Given the description of an element on the screen output the (x, y) to click on. 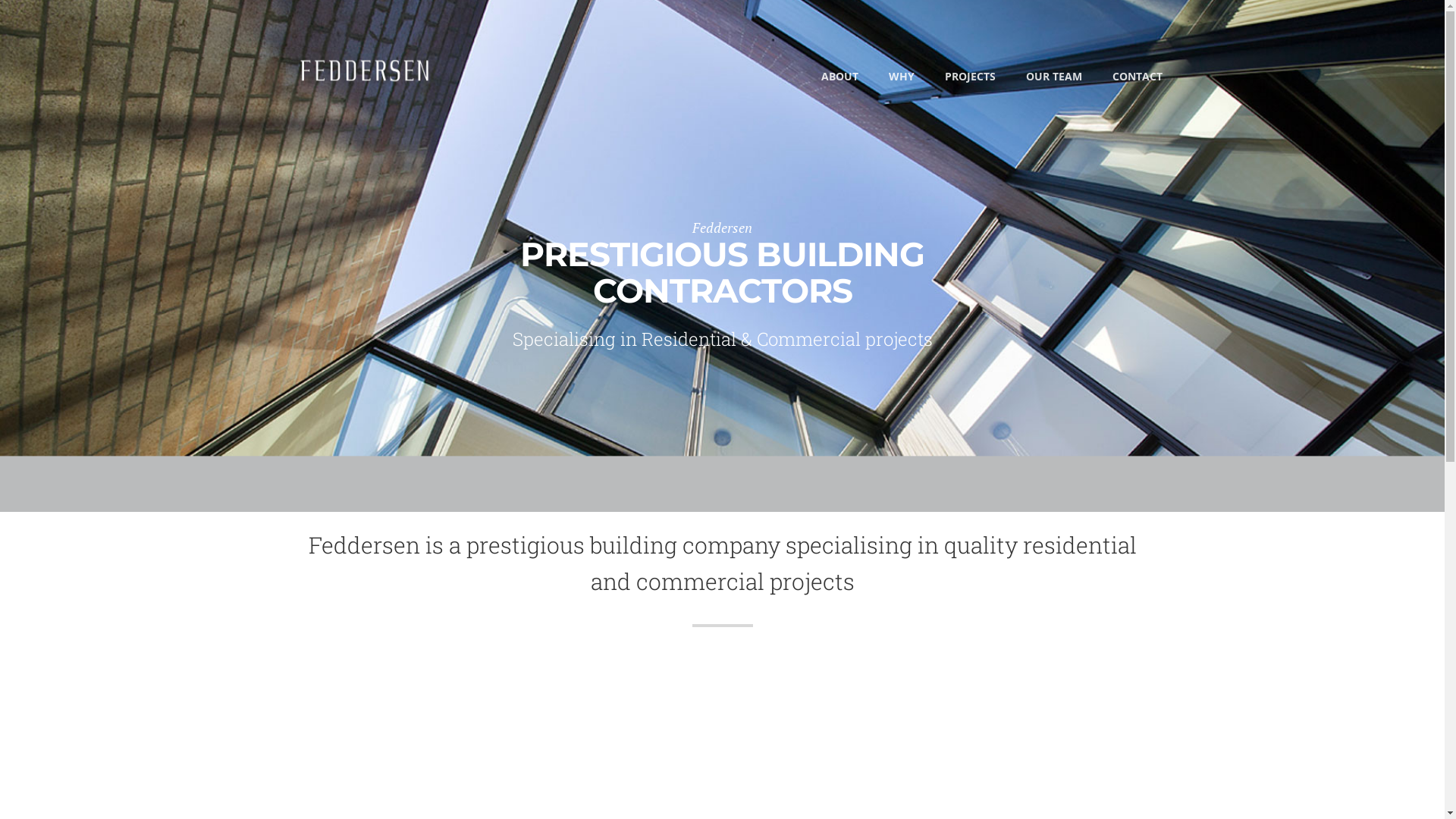
CONTACT Element type: text (1136, 81)
PROJECTS Element type: text (969, 81)
ABOUT Element type: text (838, 81)
WHY Element type: text (901, 81)
OUR TEAM Element type: text (1053, 81)
